Given the description of an element on the screen output the (x, y) to click on. 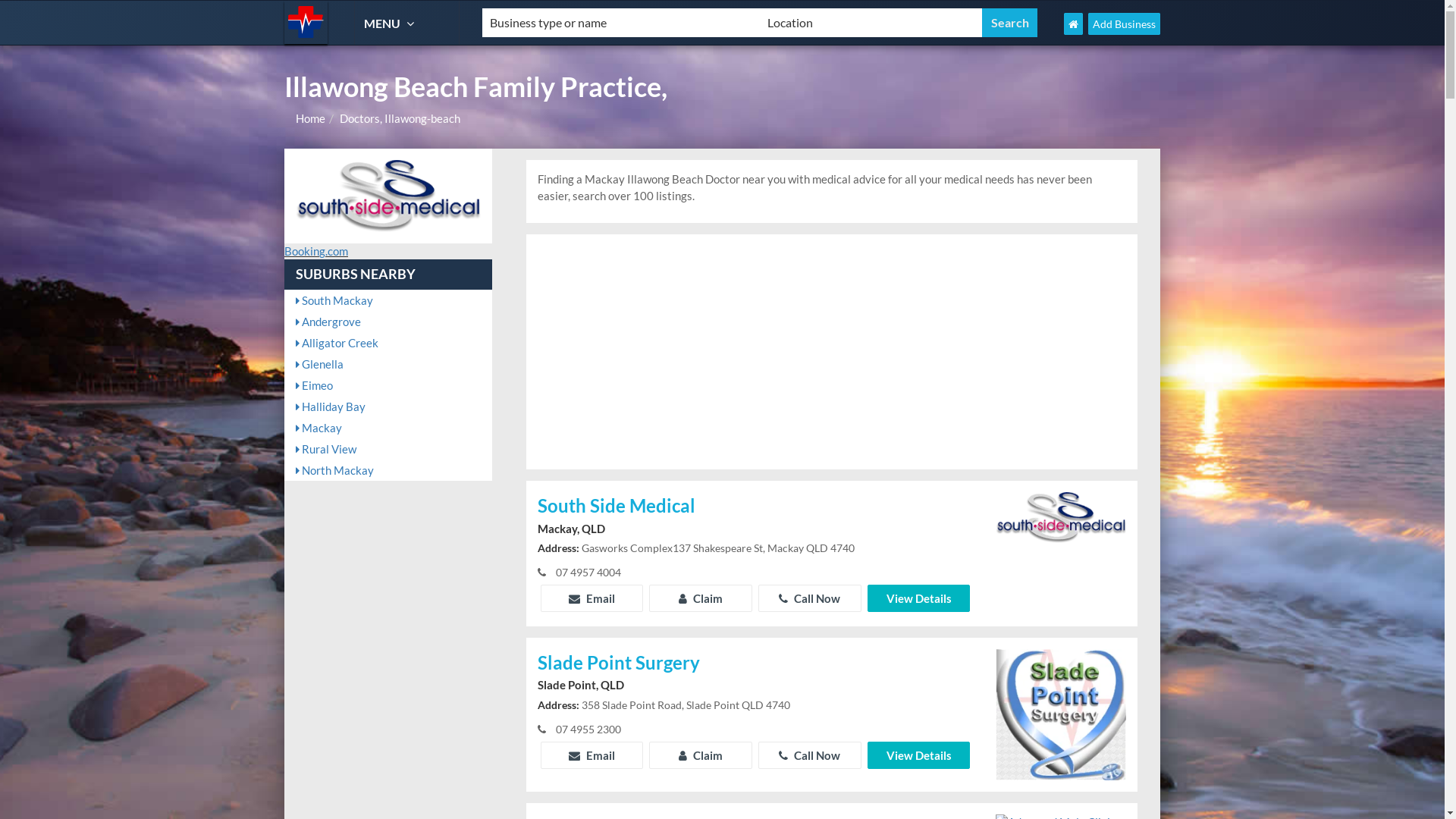
Andergrove Element type: text (388, 321)
Rural View Element type: text (388, 448)
Search Element type: text (1009, 22)
Claim Element type: text (700, 754)
Claim Element type: text (700, 597)
Email Element type: text (591, 597)
More info on South Side Medical Element type: hover (1060, 515)
Add Business Element type: text (1124, 23)
Call Now Element type: text (809, 754)
View Details Element type: text (918, 754)
Doctors, Illawong-beach Element type: text (399, 118)
Booking.com Element type: text (316, 250)
Alligator Creek Element type: text (388, 342)
Halliday Bay Element type: text (388, 406)
Mackay Element type: text (388, 427)
Home Element type: text (310, 118)
Call Now Element type: text (809, 597)
Eimeo Element type: text (388, 384)
North Mackay Element type: text (388, 469)
Email Element type: text (591, 754)
South Side Medical Element type: text (755, 506)
MENU Element type: text (390, 22)
South Mackay Element type: text (388, 299)
Doctors Find Home Page Element type: hover (1072, 23)
Glenella Element type: text (388, 363)
More info on Slade Point Surgery Element type: hover (1060, 712)
View Details Element type: text (918, 597)
Advertisement Element type: hover (831, 351)
Slade Point Surgery Element type: text (755, 663)
Doctors Find Element type: hover (305, 21)
